Given the description of an element on the screen output the (x, y) to click on. 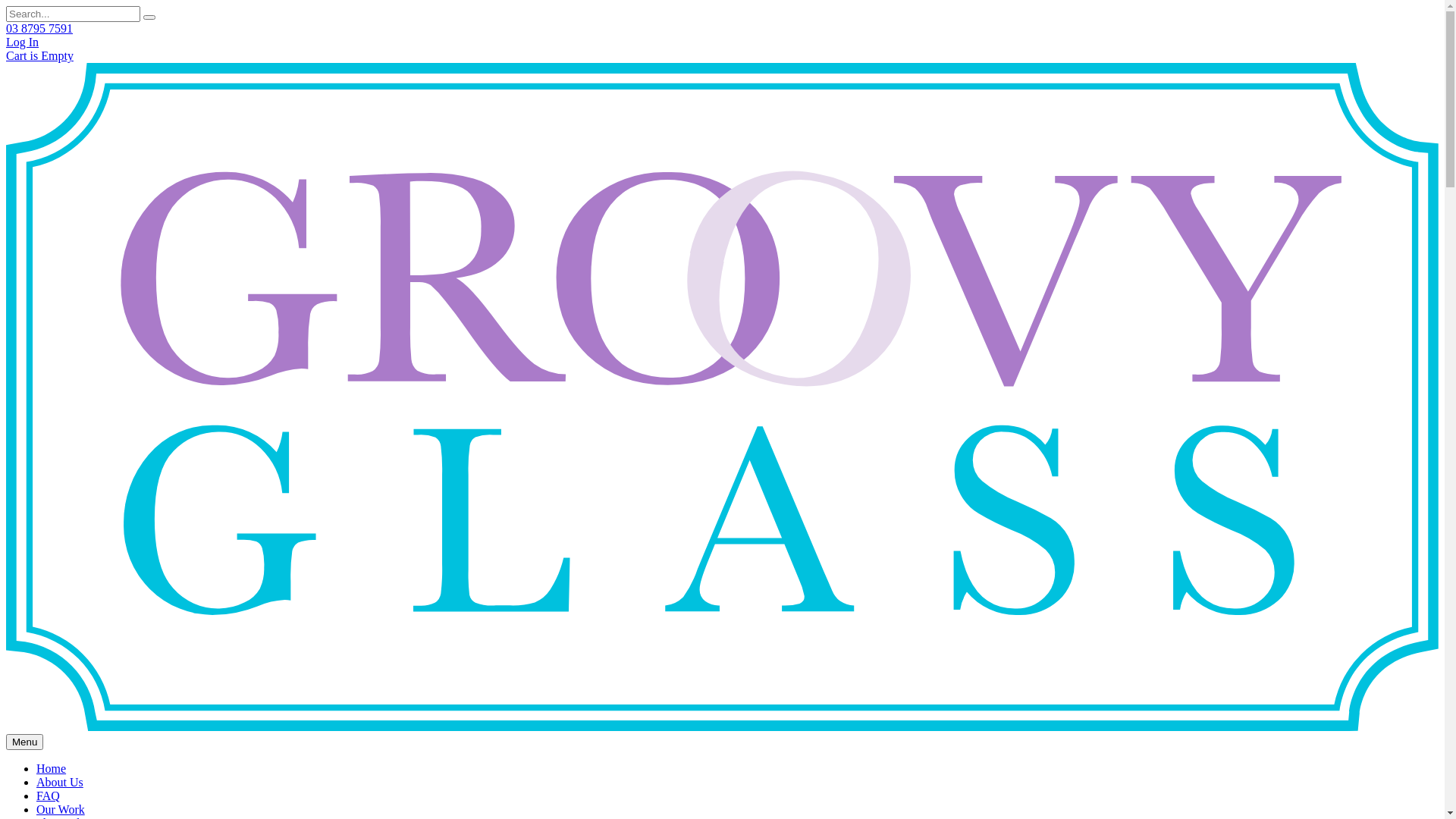
About Us Element type: text (59, 781)
FAQ Element type: text (47, 795)
Search Element type: hover (149, 17)
Return to homepage Element type: hover (722, 726)
Our Work Element type: text (60, 809)
Cart is Empty Element type: text (39, 55)
Home Element type: text (50, 768)
Menu Element type: text (24, 741)
Log In Element type: text (22, 41)
Skip to main content Element type: text (5, 5)
03 8795 7591 Element type: text (39, 27)
